Given the description of an element on the screen output the (x, y) to click on. 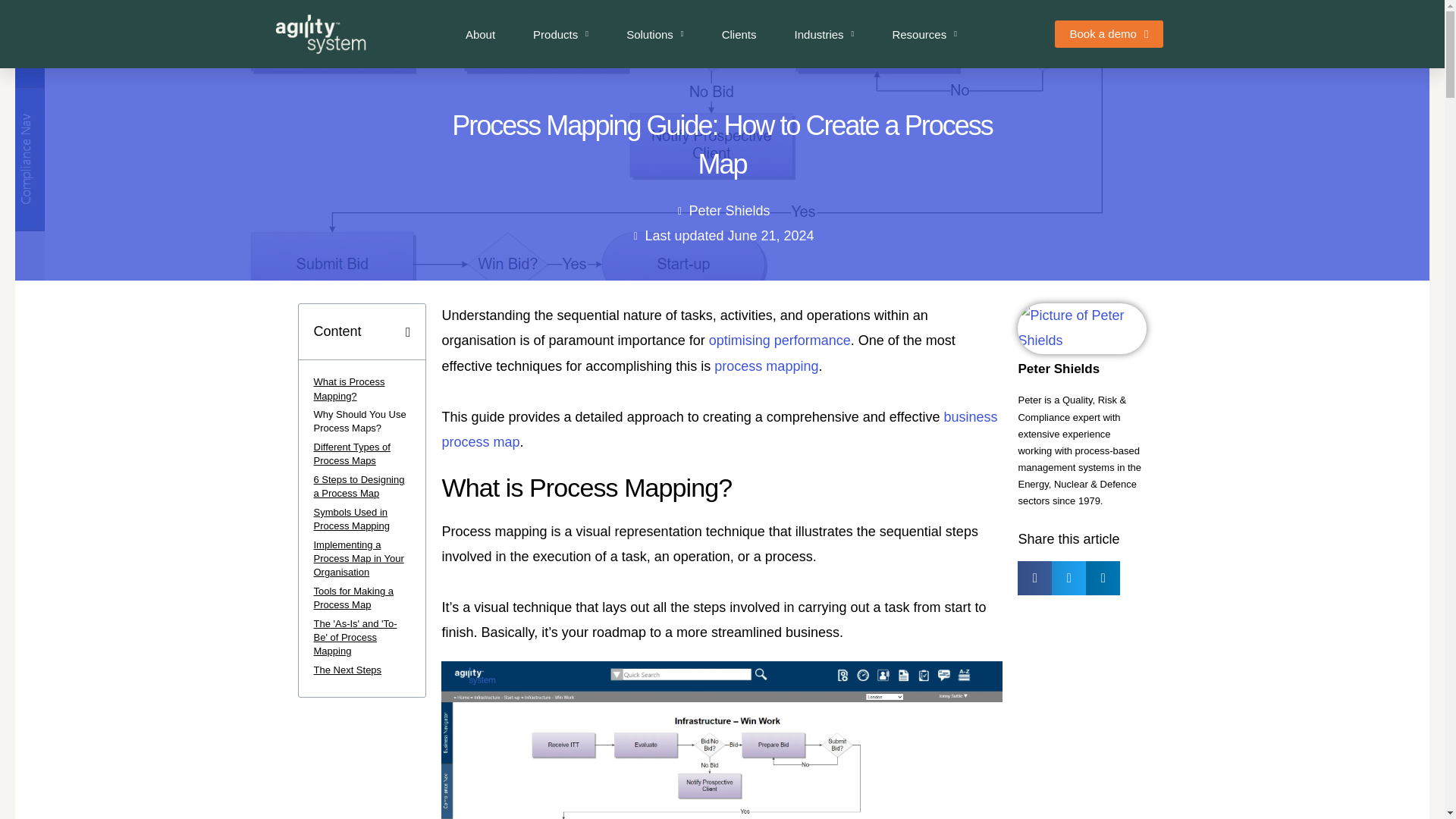
Industries (824, 33)
Resources (923, 33)
Products (560, 33)
Solutions (655, 33)
